Given the description of an element on the screen output the (x, y) to click on. 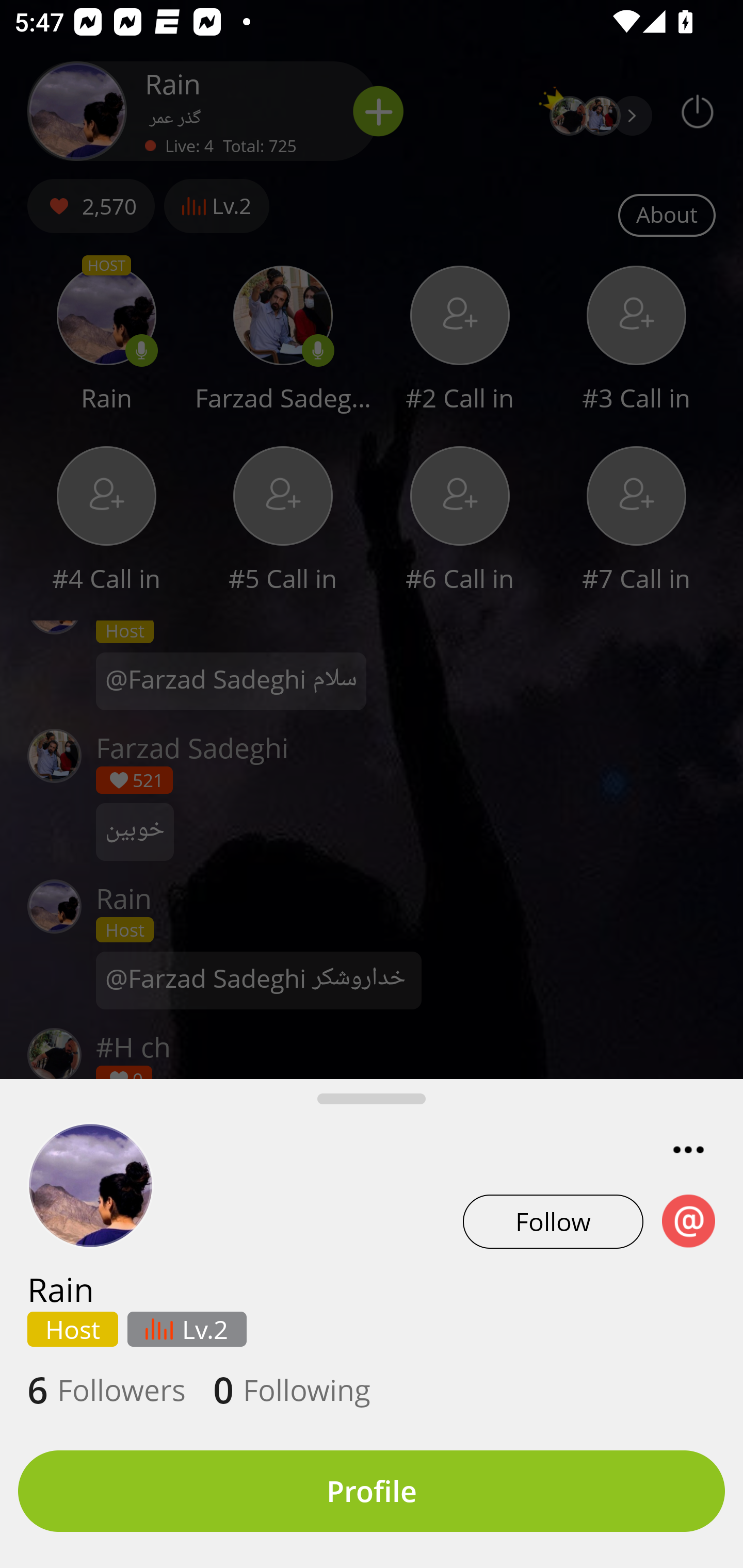
Follow (552, 1221)
Profile (371, 1490)
